Given the description of an element on the screen output the (x, y) to click on. 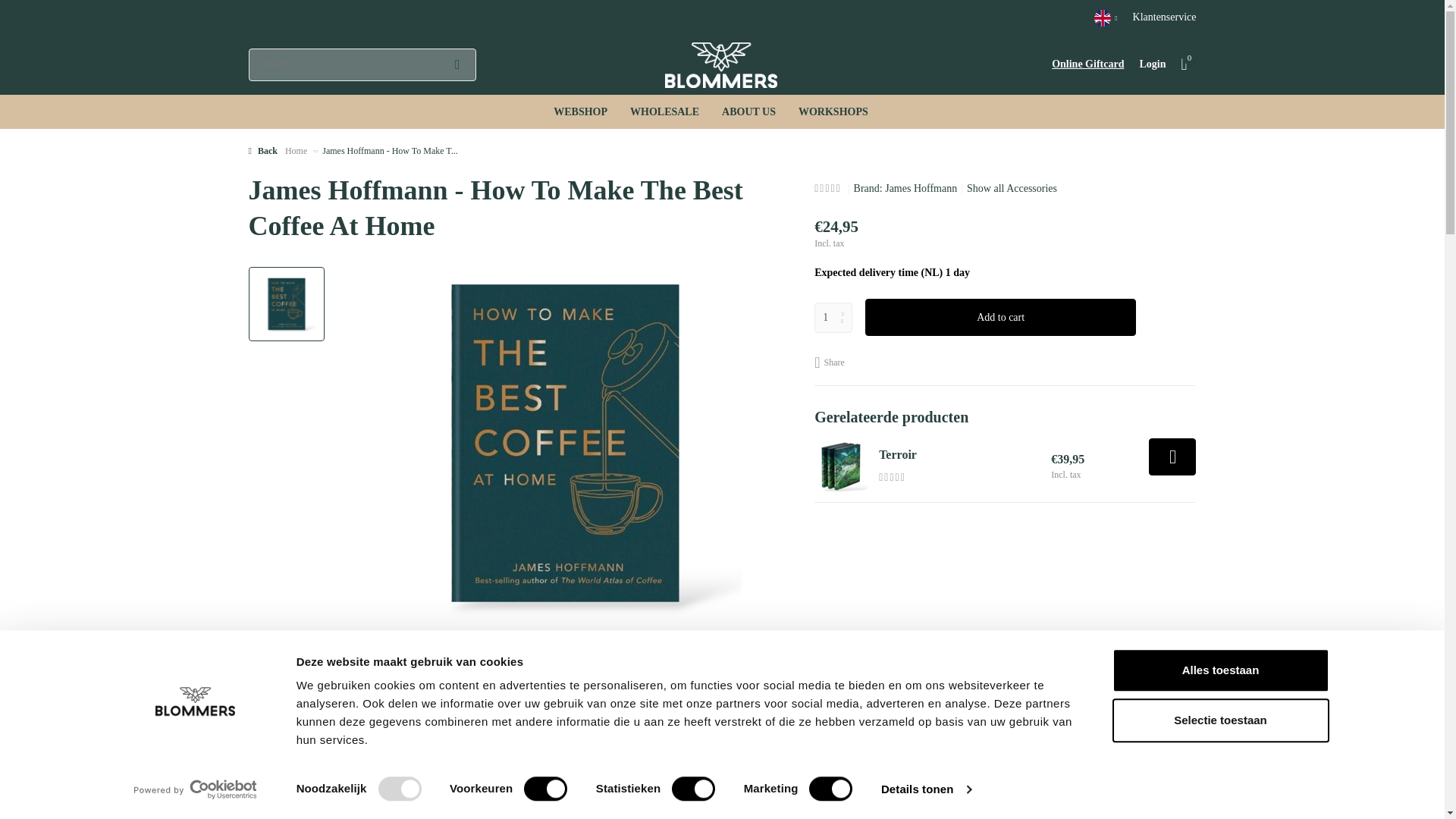
Search (456, 64)
1 (832, 317)
Blommers Coffee - Coffee is our game, perfection is our fame (721, 64)
Terroir (840, 466)
Details tonen (925, 789)
